Given the description of an element on the screen output the (x, y) to click on. 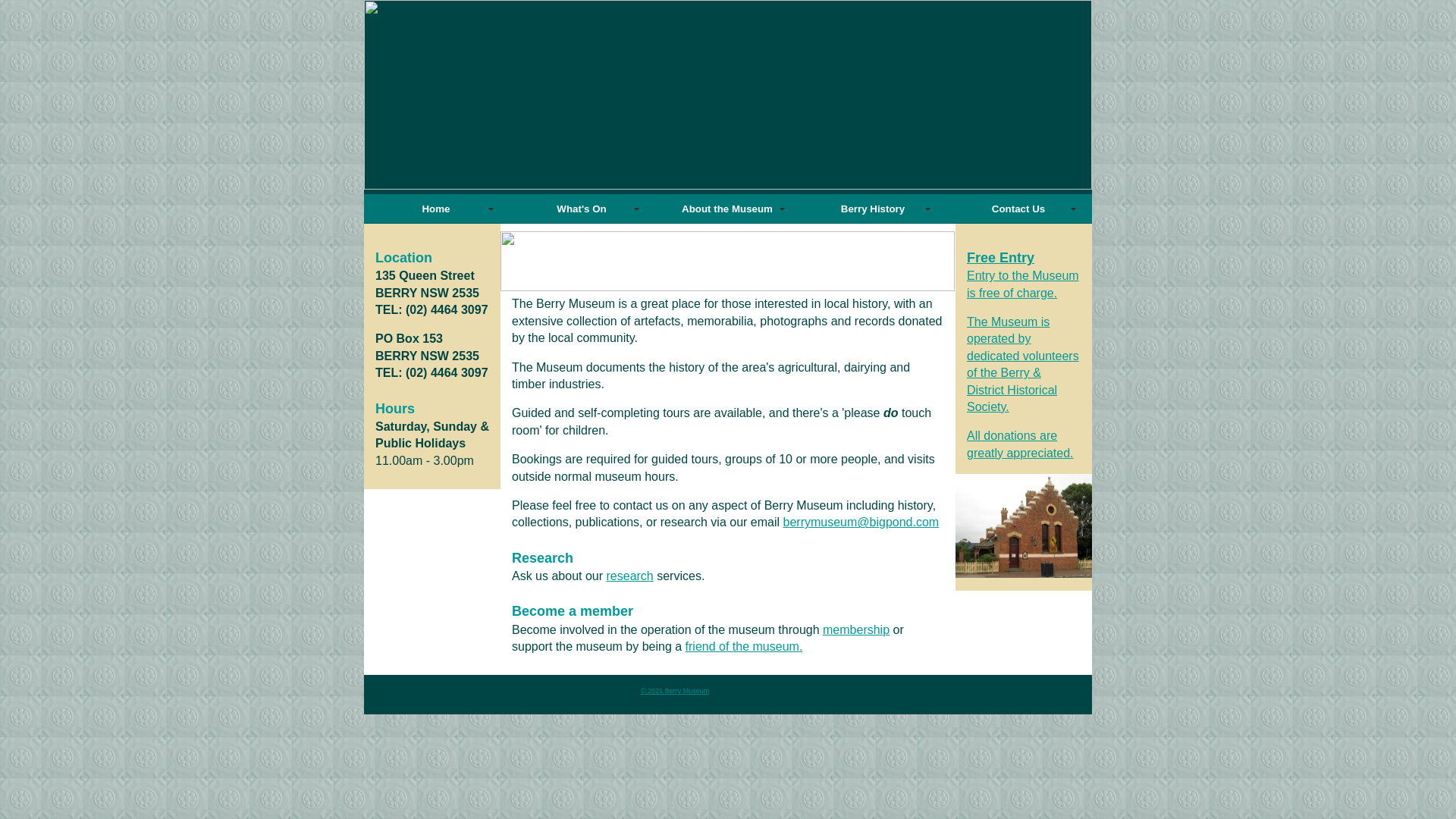
About the Museum Element type: text (723, 208)
membership Element type: text (855, 629)
berrymuseum@bigpond.com Element type: text (860, 521)
All donations are greatly appreciated. Element type: text (1019, 443)
Free Entry Element type: text (1000, 257)
Entry to the Museum is free of charge. Element type: text (1022, 283)
friend of the museum. Element type: text (744, 646)
Contact Us Element type: text (1014, 208)
Berry History Element type: text (868, 208)
What's On Element type: text (577, 208)
research Element type: text (629, 575)
Home Element type: text (432, 208)
